Given the description of an element on the screen output the (x, y) to click on. 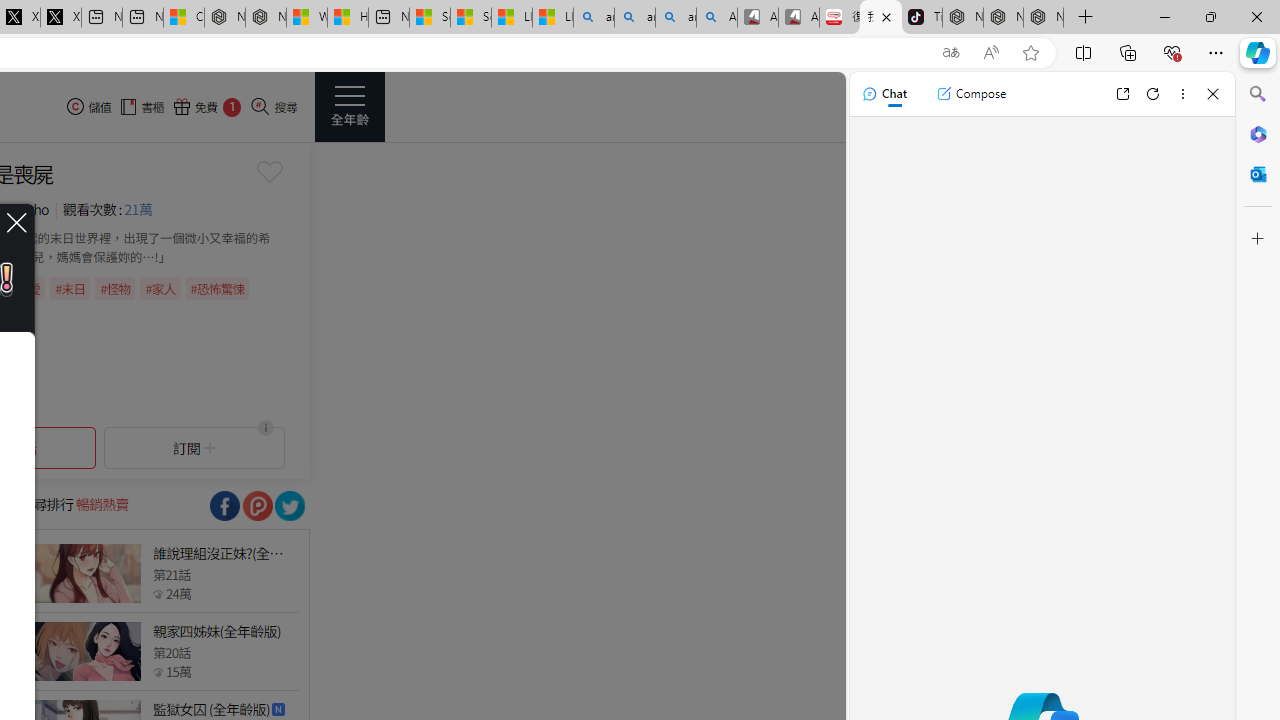
Class: socialShare (289, 506)
Chat (884, 93)
